Given the description of an element on the screen output the (x, y) to click on. 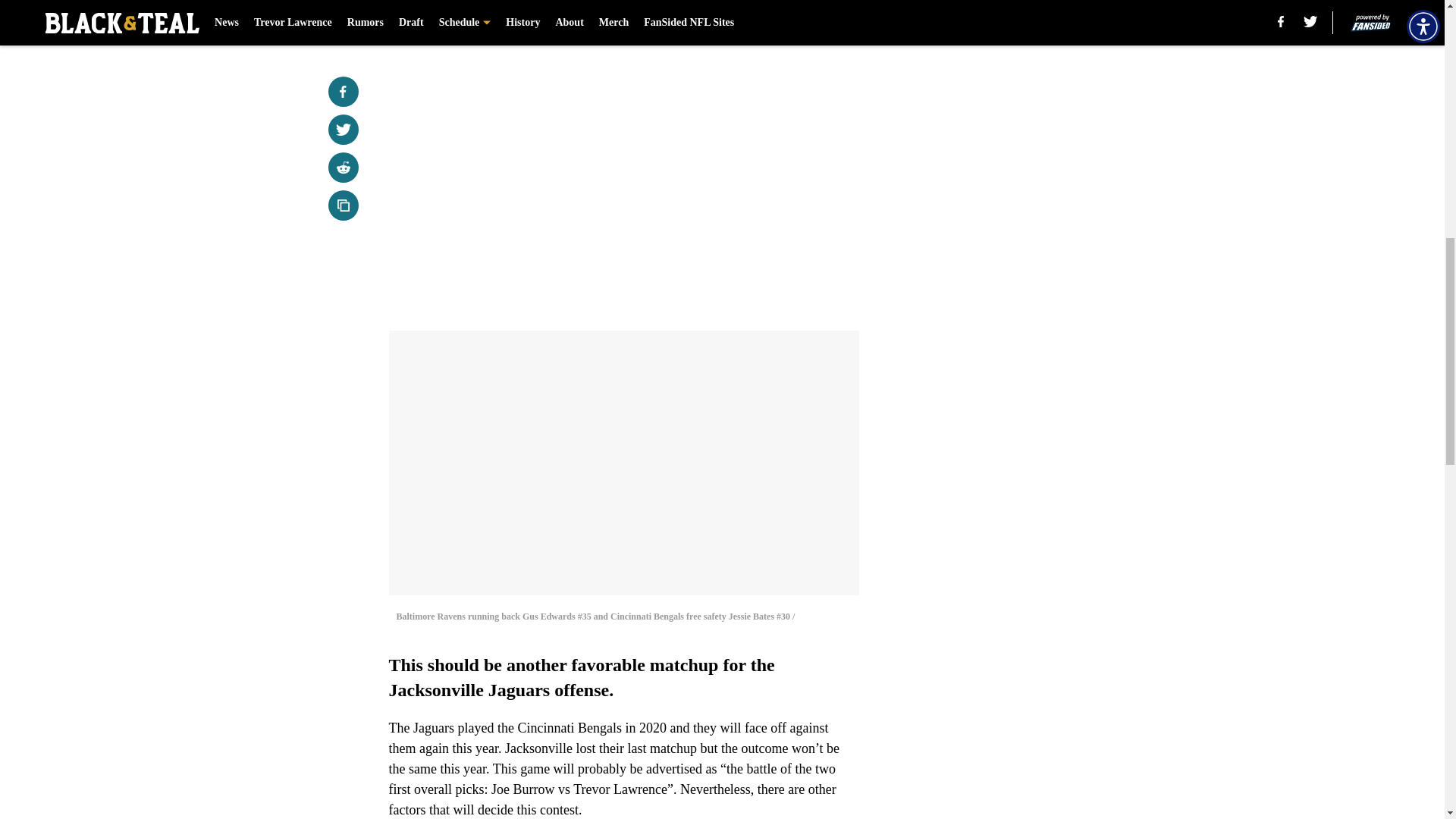
Prev (433, 20)
Next (813, 20)
